Given the description of an element on the screen output the (x, y) to click on. 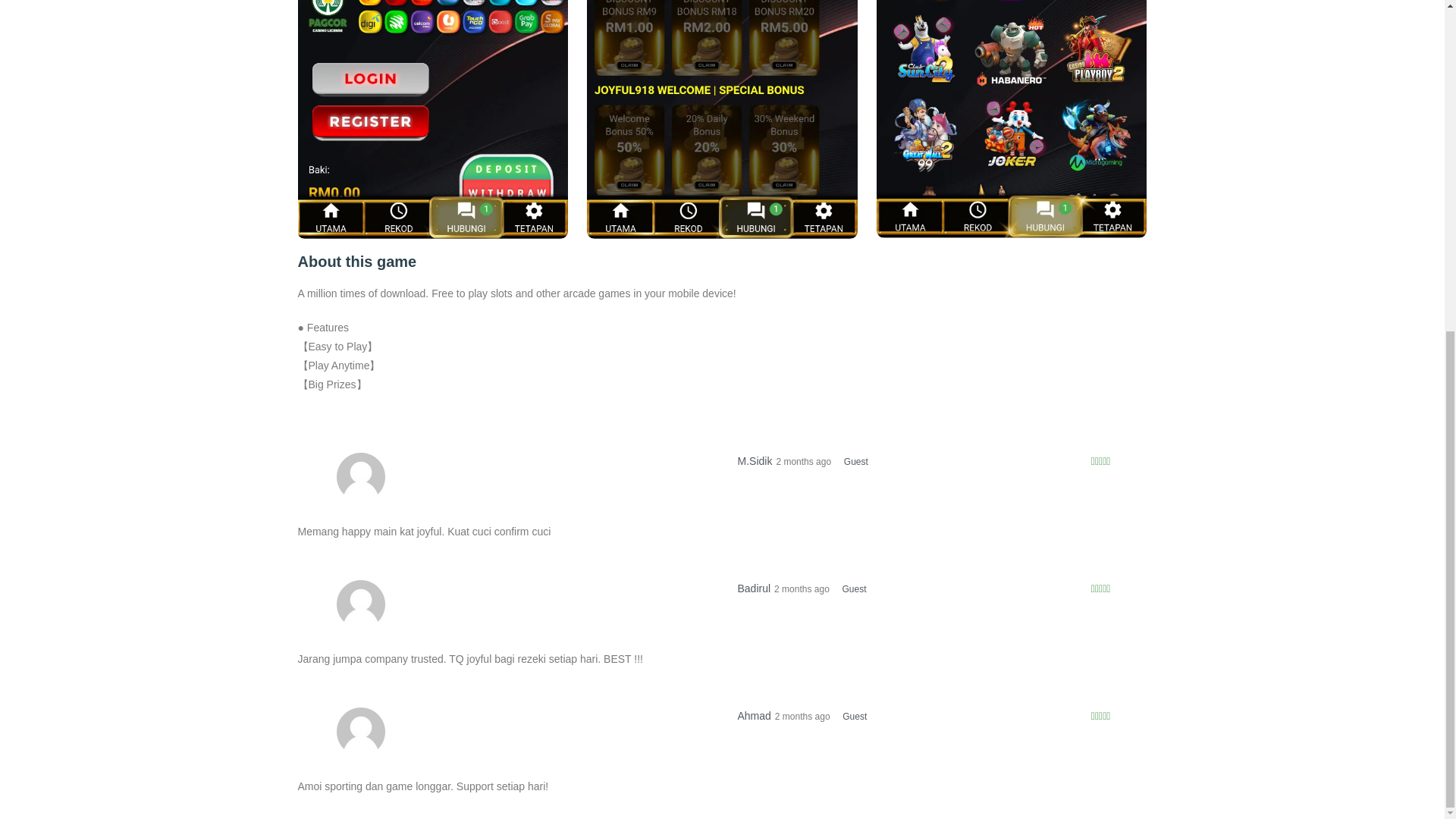
2022-01-14 16:50:43 (821, 461)
2022-01-14 16:50:43 (820, 588)
2022-01-14 16:50:43 (820, 716)
